Given the description of an element on the screen output the (x, y) to click on. 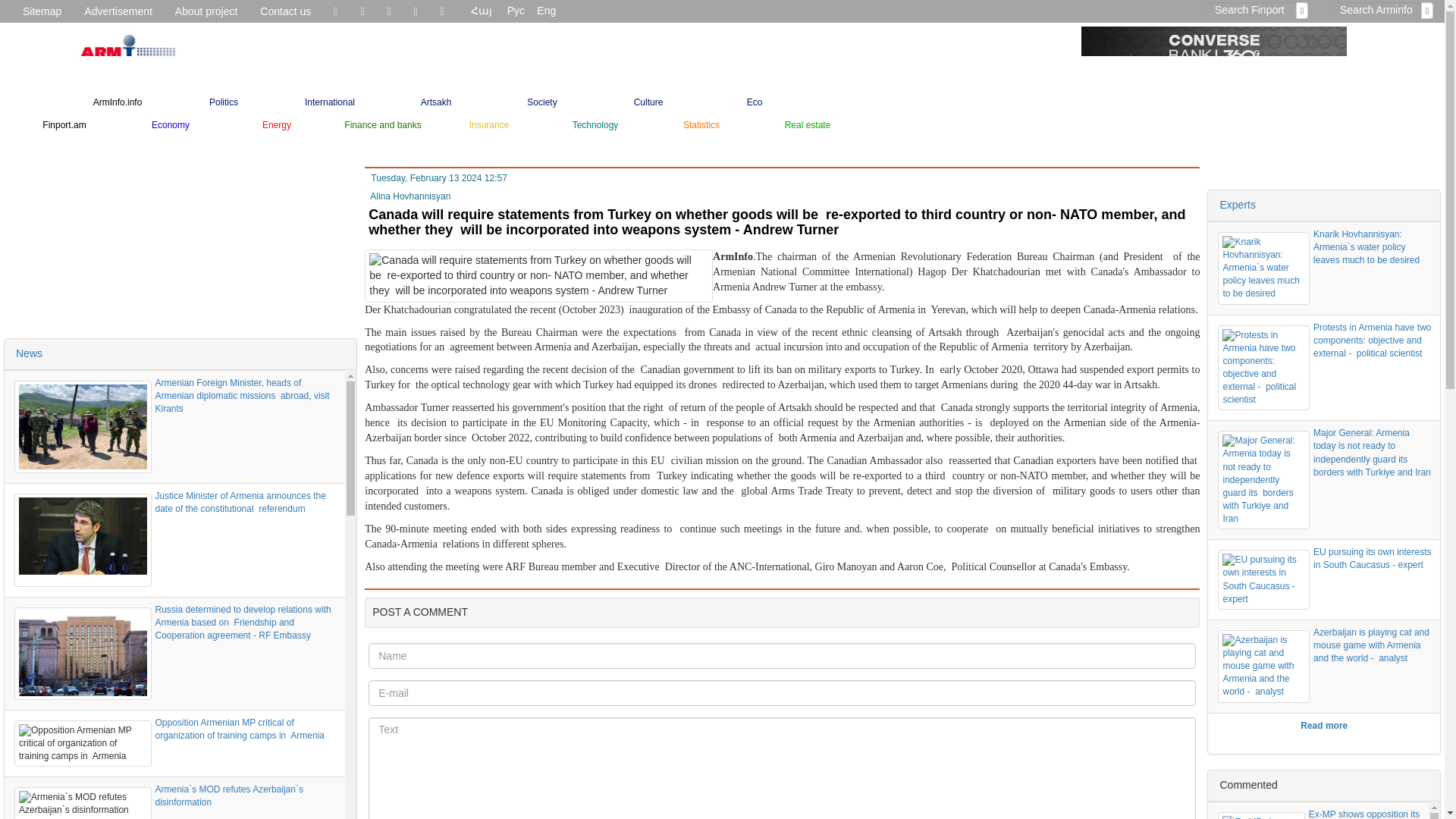
About project (205, 11)
Real estate (807, 124)
Eco (754, 101)
Contact us (284, 11)
Insurance (488, 124)
Finance and banks (382, 124)
Energy (277, 124)
